Given the description of an element on the screen output the (x, y) to click on. 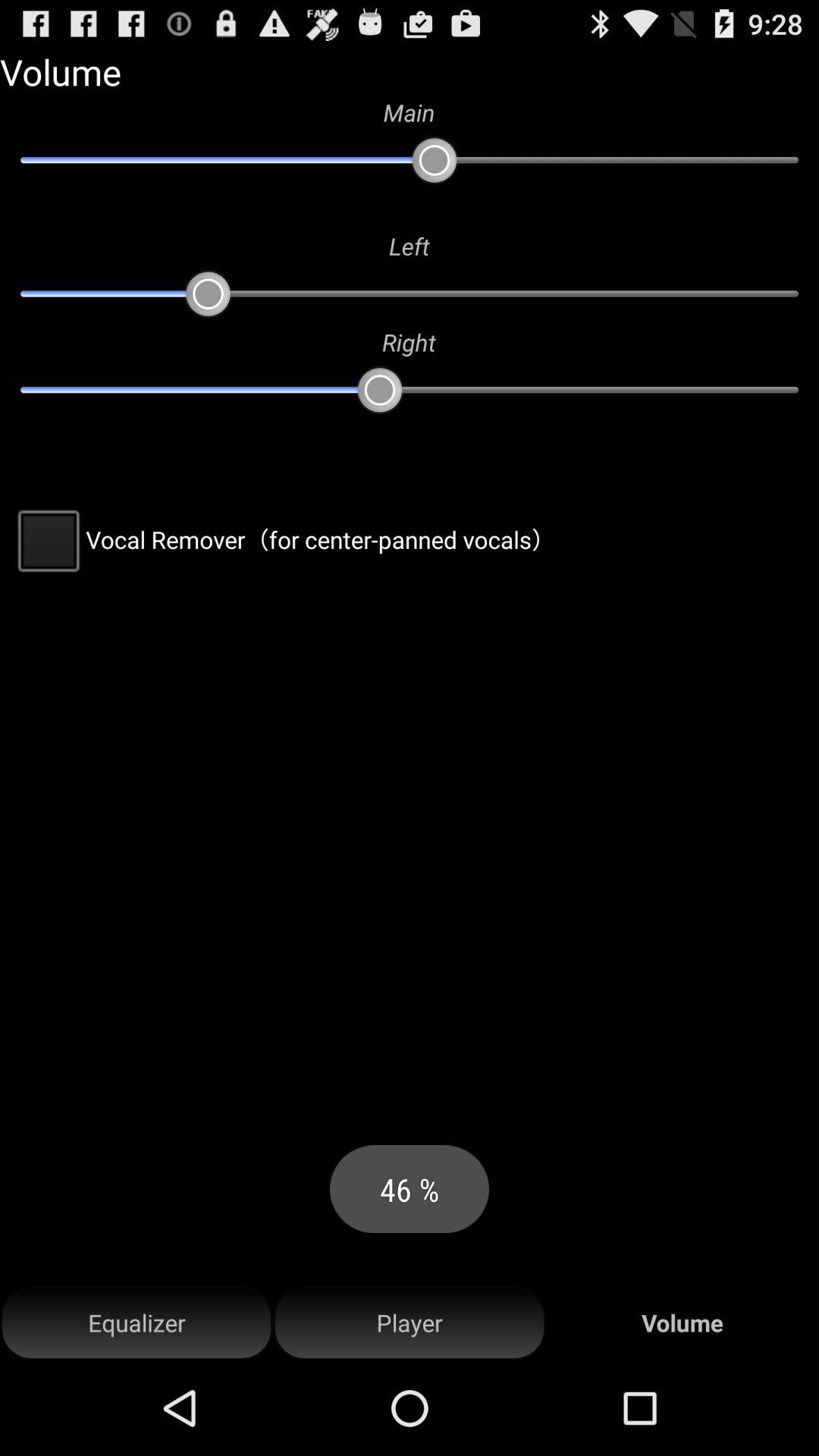
click the vocal remover for at the center (282, 539)
